Given the description of an element on the screen output the (x, y) to click on. 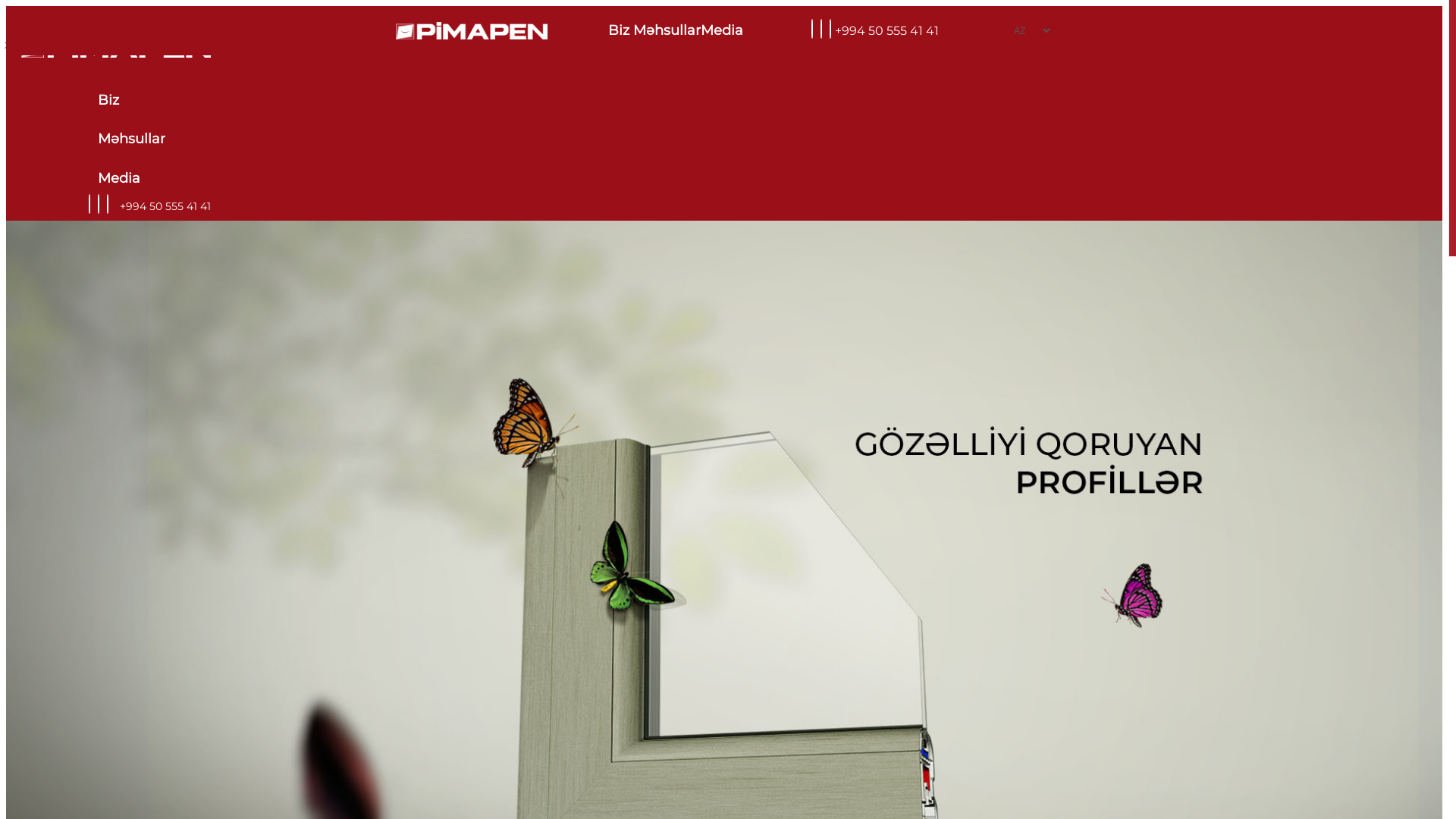
VIDEO Element type: text (76, 44)
SHOWROOM Element type: text (187, 44)
HAQQIMIZDA Element type: text (41, 44)
Media Element type: text (723, 29)
Media Element type: text (130, 178)
BLOQ Element type: text (107, 44)
KATALOQ Element type: text (243, 44)
+994 50 555 41 41 Element type: text (886, 30)
Biz Element type: text (620, 29)
RADIO Element type: text (139, 44)
Biz Element type: text (130, 100)
